Given the description of an element on the screen output the (x, y) to click on. 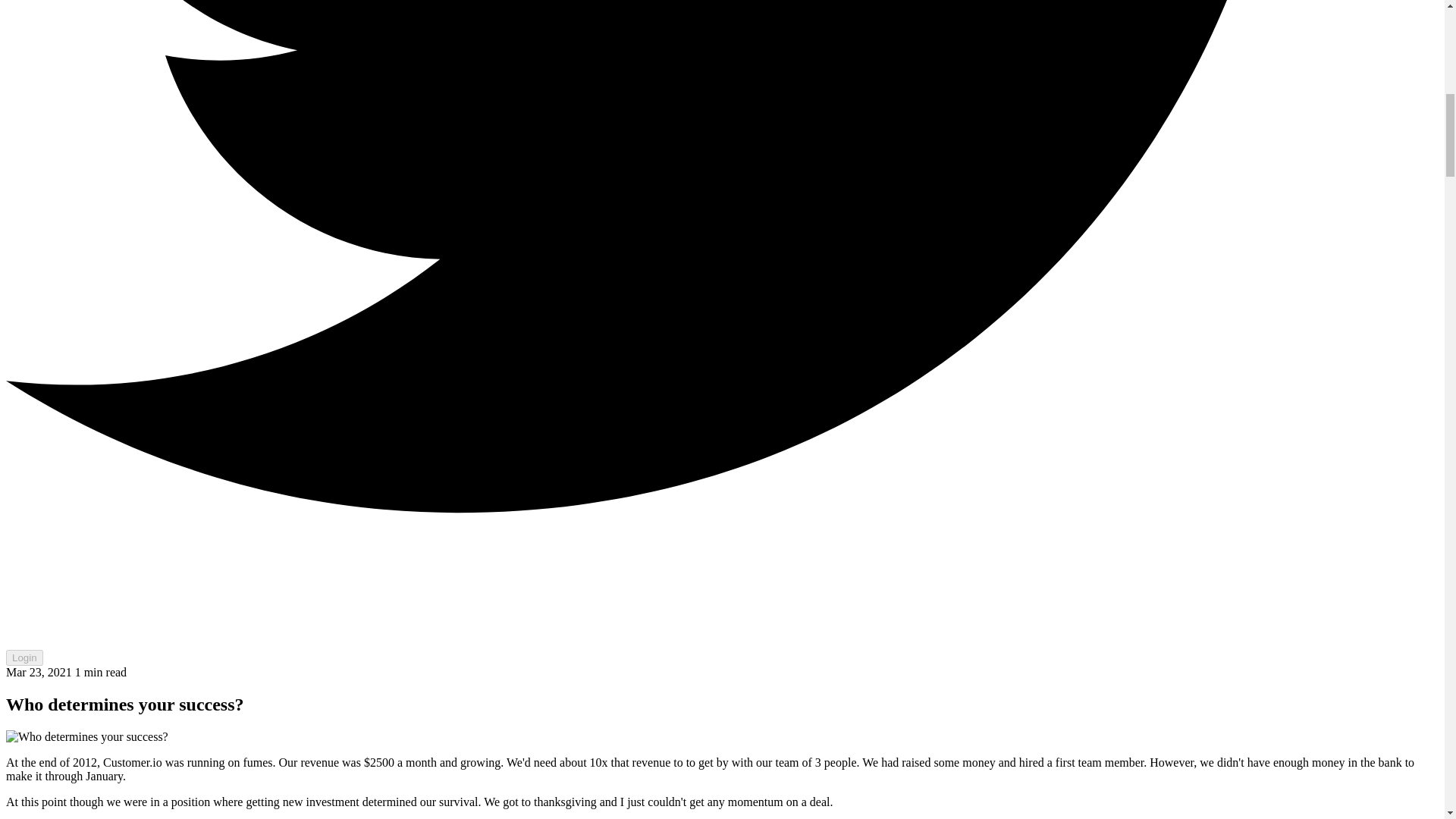
Login (24, 657)
